Given the description of an element on the screen output the (x, y) to click on. 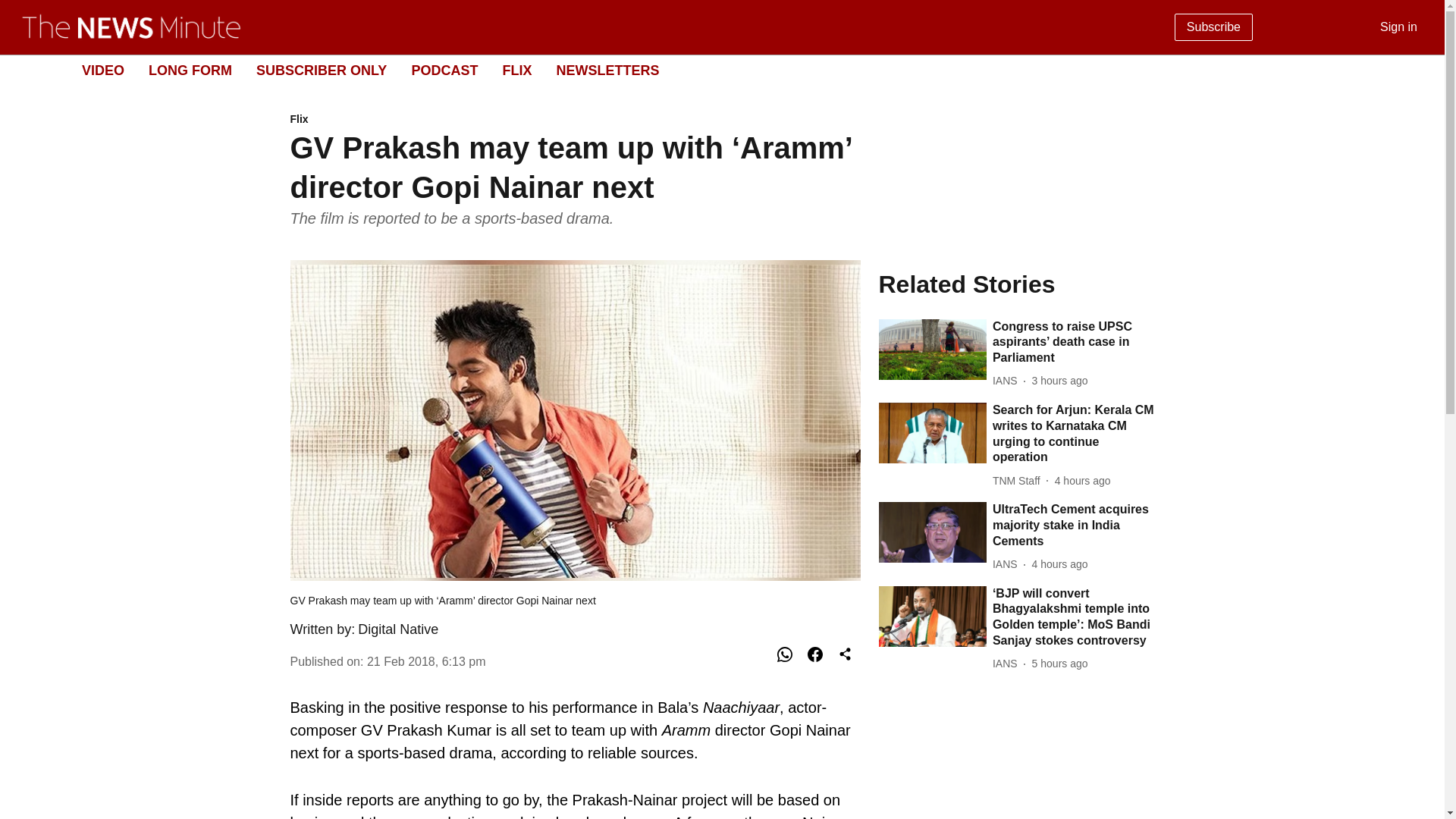
SUBSCRIBER ONLY (321, 70)
2024-07-29 03:59 (1082, 480)
NEWSLETTERS (607, 70)
LONG FORM (189, 70)
UltraTech Cement acquires majority stake in India Cements (1073, 525)
2018-02-21 10:13 (426, 661)
Related Stories (1015, 283)
Digital Native (398, 629)
VIDEO (102, 70)
Flix (574, 119)
2024-07-29 03:07 (1059, 564)
FLIX (516, 70)
PODCAST (443, 70)
TNM Staff (1019, 480)
Dark Mode (1415, 70)
